Given the description of an element on the screen output the (x, y) to click on. 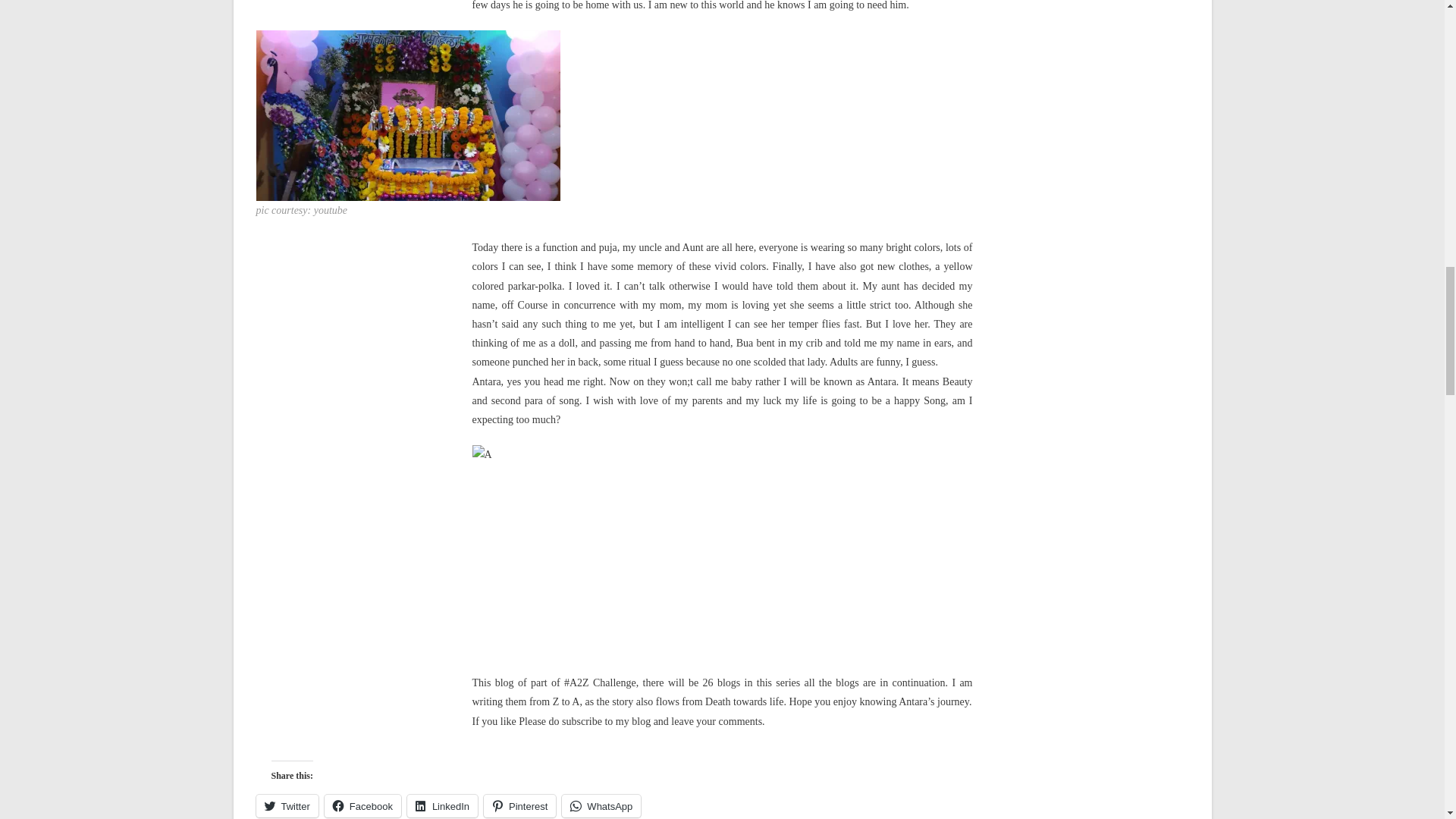
Click to share on LinkedIn (442, 805)
Twitter (287, 805)
Facebook (362, 805)
Pinterest (519, 805)
LinkedIn (442, 805)
Click to share on WhatsApp (601, 805)
Click to share on Twitter (287, 805)
WhatsApp (601, 805)
Click to share on Facebook (362, 805)
Click to share on Pinterest (519, 805)
